Given the description of an element on the screen output the (x, y) to click on. 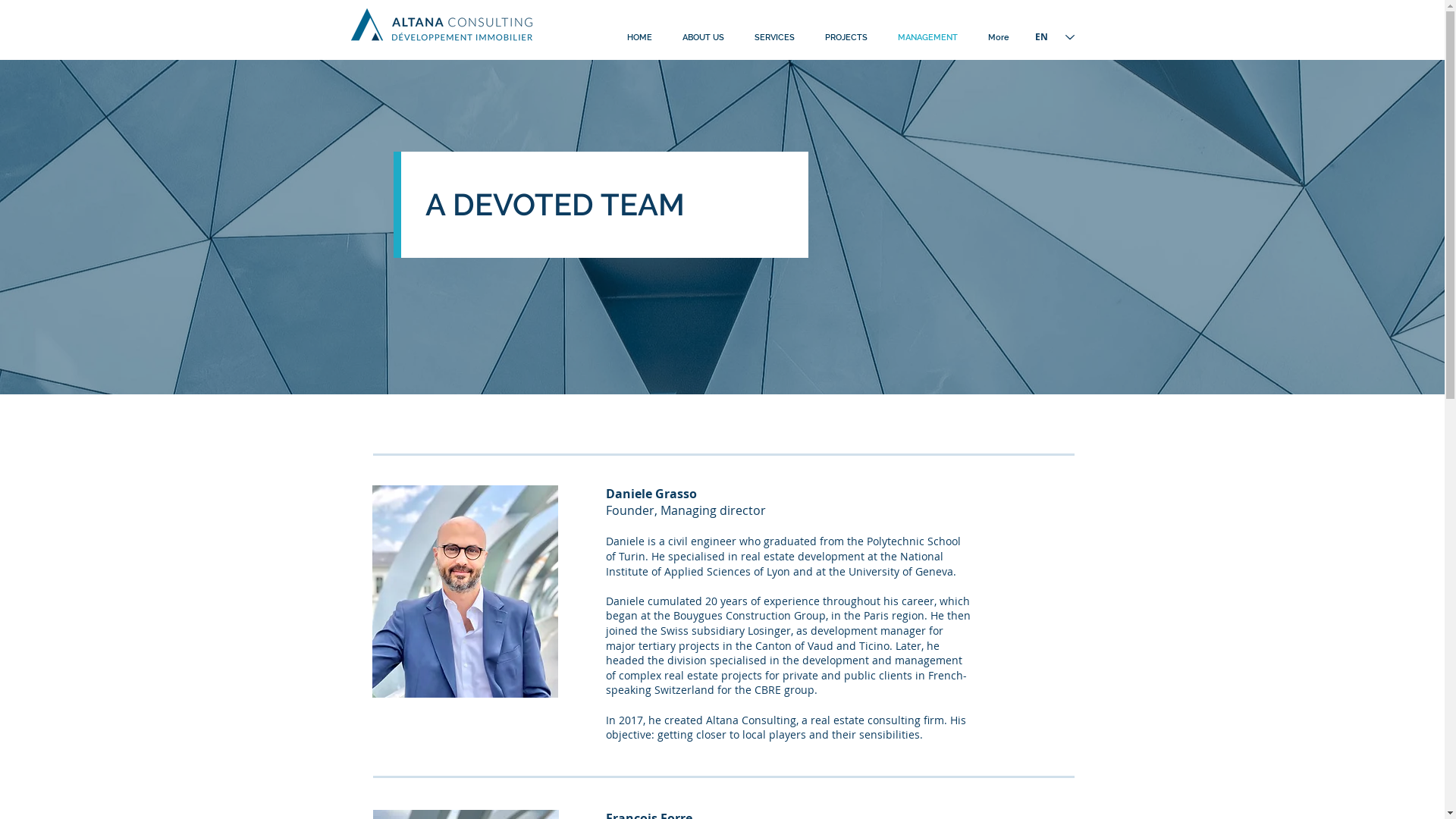
HOME Element type: text (638, 37)
PROJECTS Element type: text (845, 37)
MANAGEMENT Element type: text (927, 37)
SERVICES Element type: text (773, 37)
ABOUT US Element type: text (703, 37)
